Given the description of an element on the screen output the (x, y) to click on. 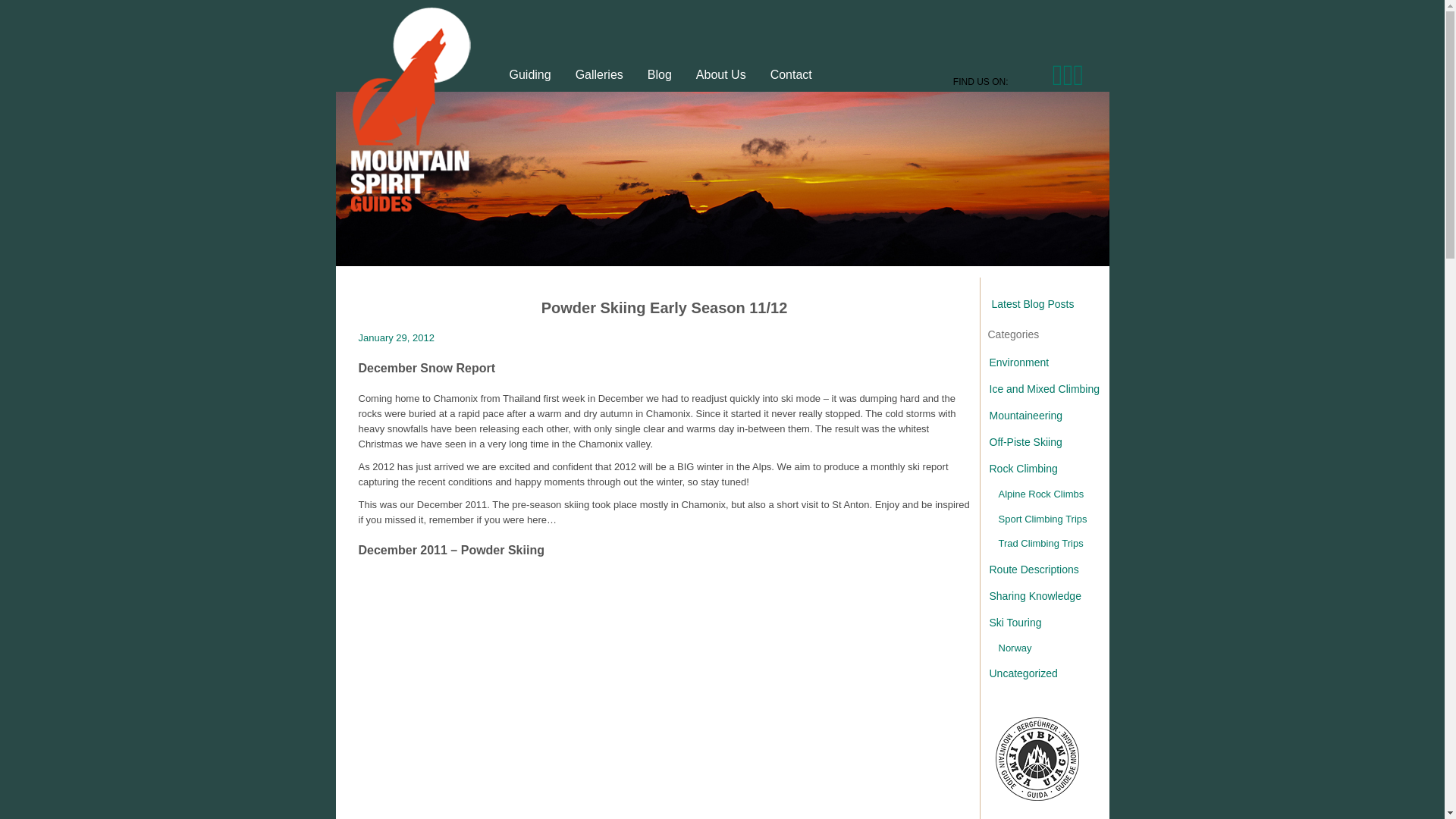
Galleries (600, 73)
skiing climbing mountains (661, 73)
Route Descriptions (1048, 569)
Mountain Spirit Guides (722, 73)
About Us (722, 73)
Latest Blog Posts (1026, 304)
Trad Climbing Trips (1052, 543)
Ski Touring (1048, 622)
Off-Piste Skiing (1048, 442)
Sport Climbing Trips (1052, 518)
